Given the description of an element on the screen output the (x, y) to click on. 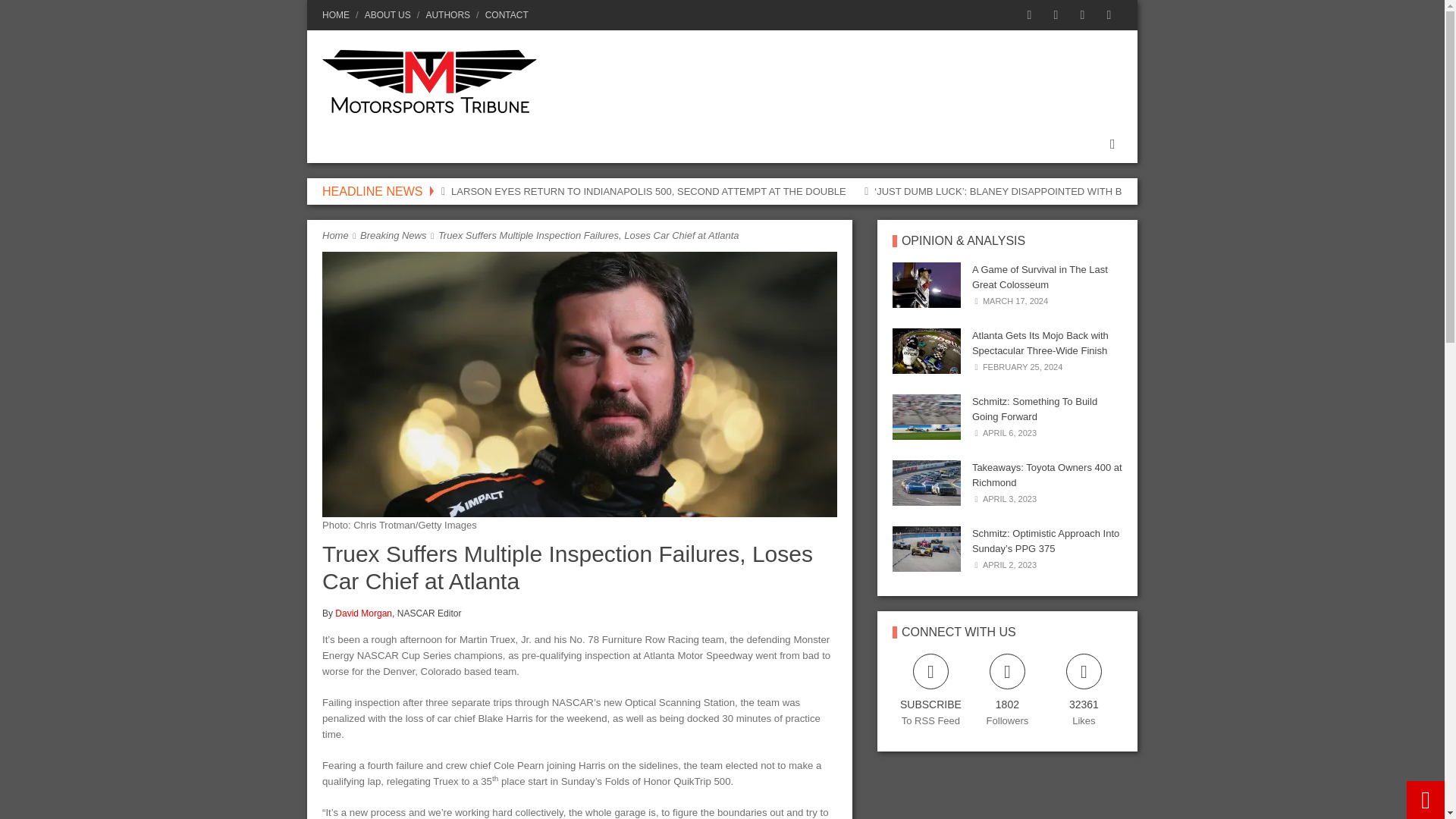
A Game of Survival in The Last Great Colosseum (1040, 276)
INDYCAR (427, 143)
DRIVER COLUMNS (536, 143)
MULTIMEDIA (748, 143)
A Game of Survival in The Last Great Colosseum (926, 284)
FEATURES (652, 143)
HOME (338, 14)
AUTHORS (447, 14)
